Given the description of an element on the screen output the (x, y) to click on. 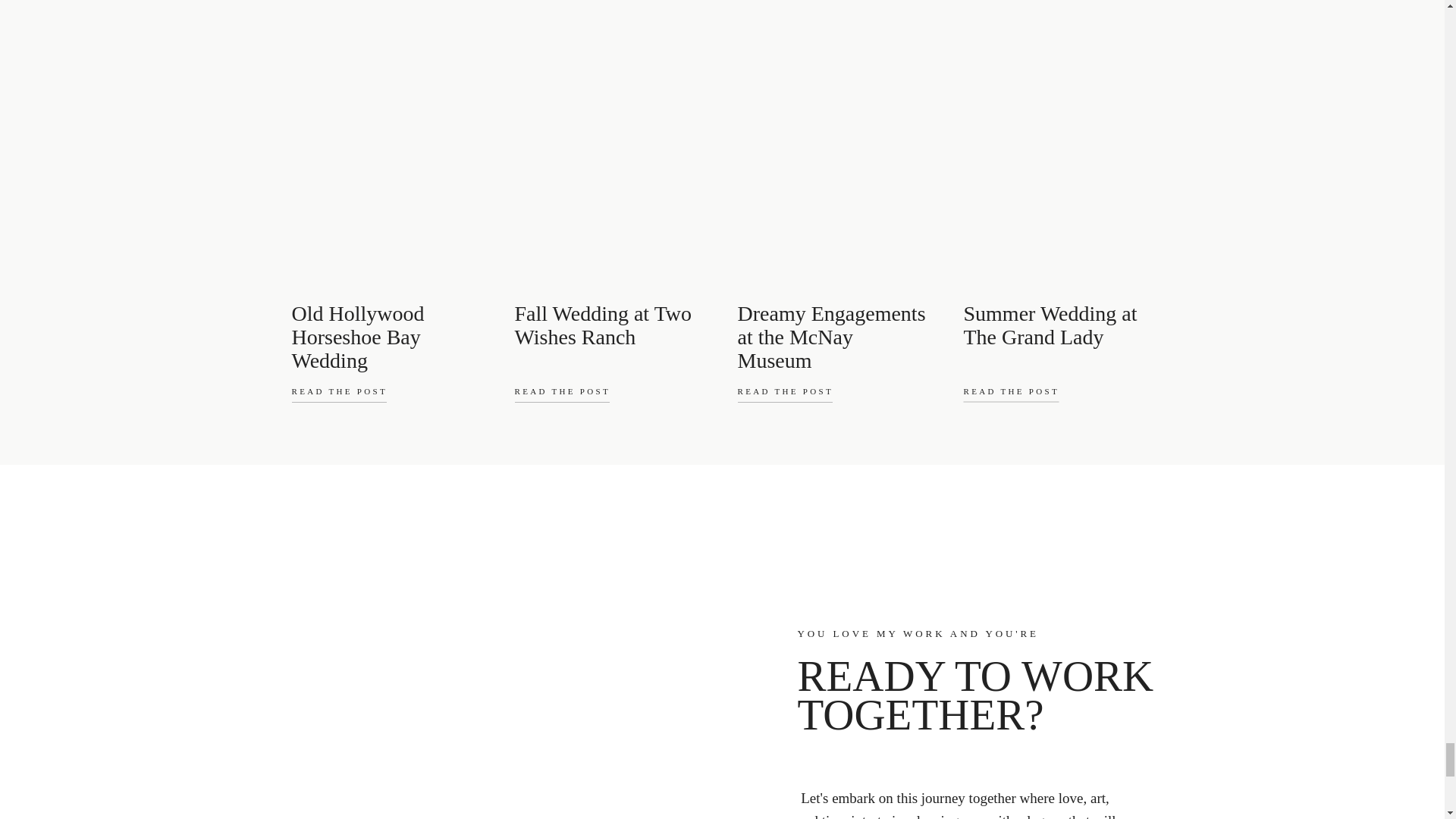
Old Hollywood Horseshoe Bay Wedding  (385, 325)
READ THE POST (374, 395)
Summer Wedding at The Grand Lady (1057, 325)
READ THE POST (581, 395)
Dreamy Engagements at the McNay Museum (831, 325)
Fall Wedding at Two Wishes Ranch (608, 325)
READ THE POST (806, 395)
READ THE POST (1032, 395)
